Given the description of an element on the screen output the (x, y) to click on. 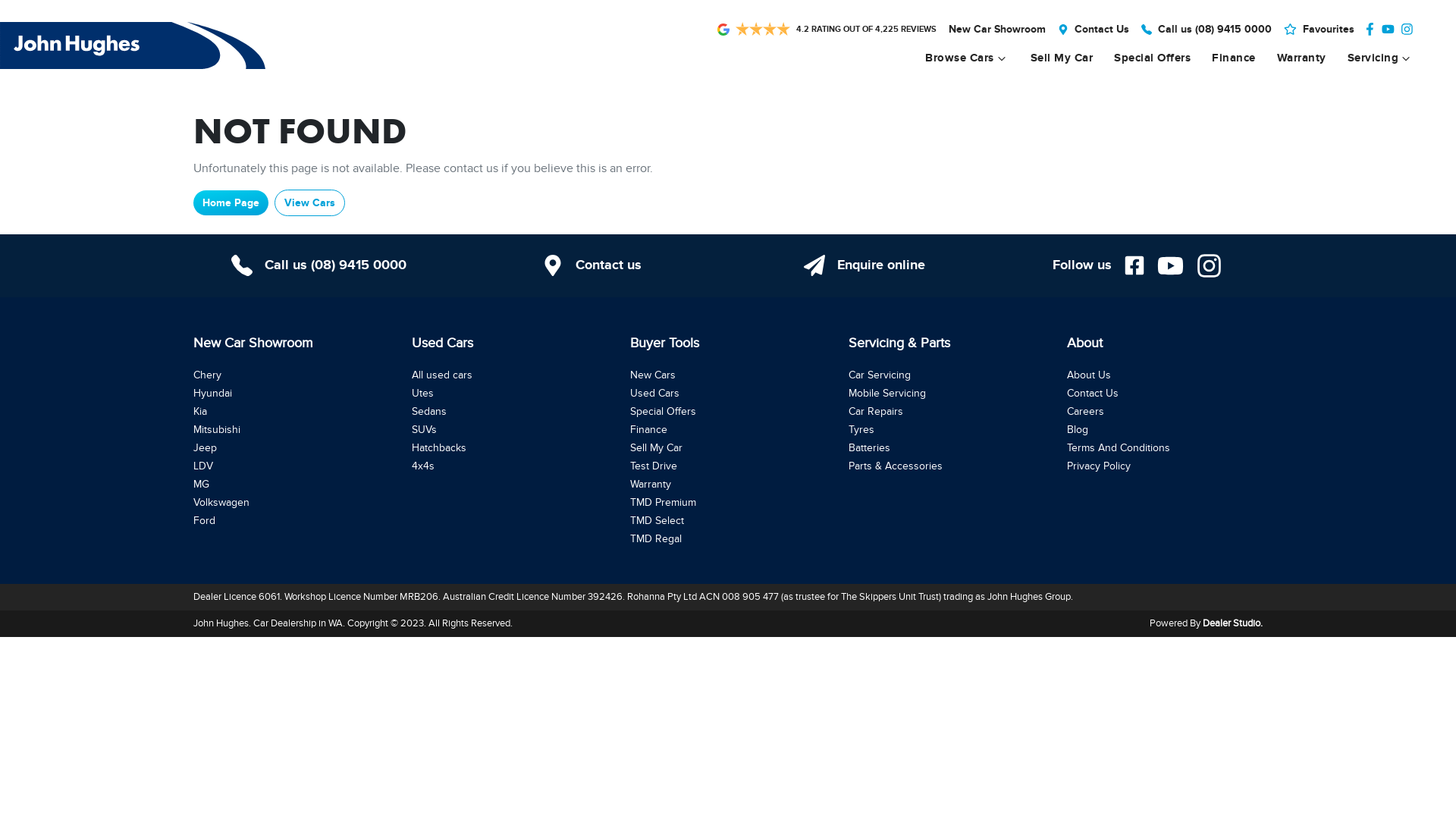
Privacy Policy Element type: text (1098, 465)
Contact Us Element type: text (1092, 392)
New Cars Element type: text (652, 374)
Ford Element type: text (204, 520)
Test Drive Element type: text (653, 465)
View Cars Element type: text (309, 202)
SUVs Element type: text (423, 429)
Contact Us Element type: text (1101, 28)
Batteries Element type: text (869, 447)
Browse Cars Element type: text (962, 58)
Special Offers Element type: text (663, 410)
Car Servicing Element type: text (879, 374)
Favourites Element type: text (1323, 29)
MG Element type: text (201, 483)
Enquire online Element type: text (864, 265)
Call us (08) 9415 0000 Element type: text (1214, 28)
Careers Element type: text (1085, 410)
Jeep Element type: text (204, 447)
Contact us Element type: text (590, 265)
LDV Element type: text (203, 465)
Finance Element type: text (1233, 57)
Car Repairs Element type: text (875, 410)
Parts & Accessories Element type: text (895, 465)
Mitsubishi Element type: text (216, 429)
Chery Element type: text (207, 374)
Home Page Element type: text (230, 202)
Warranty Element type: text (1301, 57)
4x4s Element type: text (422, 465)
TMD Premium Element type: text (663, 501)
Call us (08) 9415 0000 Element type: text (317, 265)
Blog Element type: text (1077, 429)
Hyundai Element type: text (212, 392)
Kia Element type: text (200, 410)
New Car Showroom Element type: text (996, 28)
Sedans Element type: text (428, 410)
TMD Select Element type: text (657, 520)
Volkswagen Element type: text (221, 501)
Terms And Conditions Element type: text (1118, 447)
Special Offers Element type: text (1151, 57)
Hatchbacks Element type: text (438, 447)
Warranty Element type: text (650, 483)
TMD Regal Element type: text (655, 538)
About Us Element type: text (1088, 374)
Used Cars Element type: text (654, 392)
Finance Element type: text (648, 429)
Mobile Servicing Element type: text (886, 392)
All used cars Element type: text (441, 374)
Servicing Element type: text (1375, 58)
Utes Element type: text (422, 392)
Sell My Car Element type: text (1060, 57)
Sell My Car Element type: text (656, 447)
Tyres Element type: text (861, 429)
Dealer Studio. Element type: text (1232, 623)
